Given the description of an element on the screen output the (x, y) to click on. 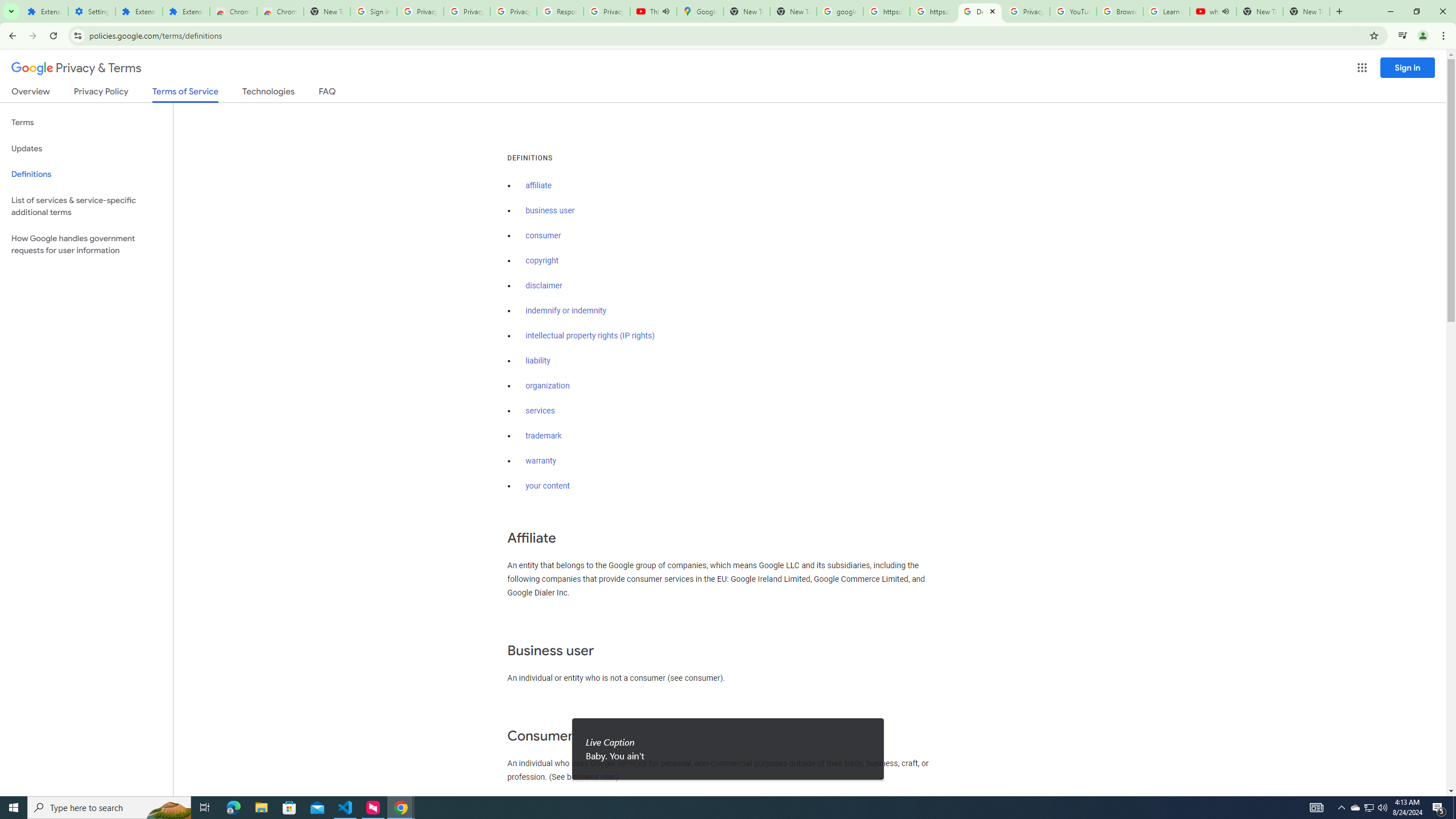
FAQ (327, 93)
Terms (86, 122)
YouTube (1073, 11)
Extensions (44, 11)
List of services & service-specific additional terms (86, 206)
your content (547, 486)
copyright (542, 260)
organization (547, 385)
